Given the description of an element on the screen output the (x, y) to click on. 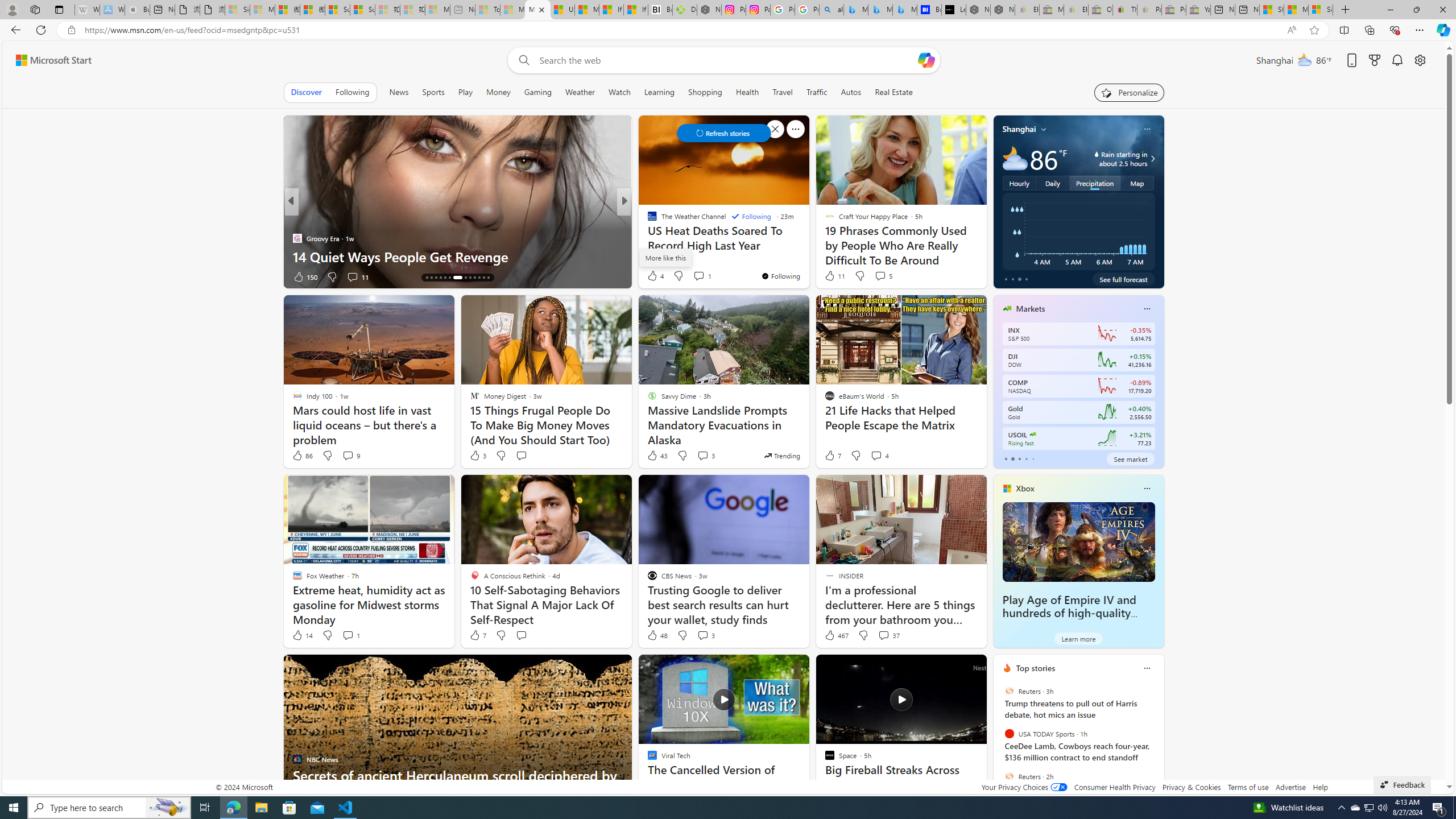
previous (998, 741)
Real Estate (893, 92)
You're following MSNBC (253, 279)
Weather (580, 92)
Address and search bar (680, 29)
Close (1442, 9)
Markets (1030, 308)
AutomationID: tab-17 (440, 277)
View comments 53 Comment (707, 276)
water-drop-icon (1096, 154)
View comments 9 Comment (350, 455)
Hourly (1018, 183)
Back (13, 29)
Consumer Health Privacy (1115, 786)
123 Like (654, 276)
